Given the description of an element on the screen output the (x, y) to click on. 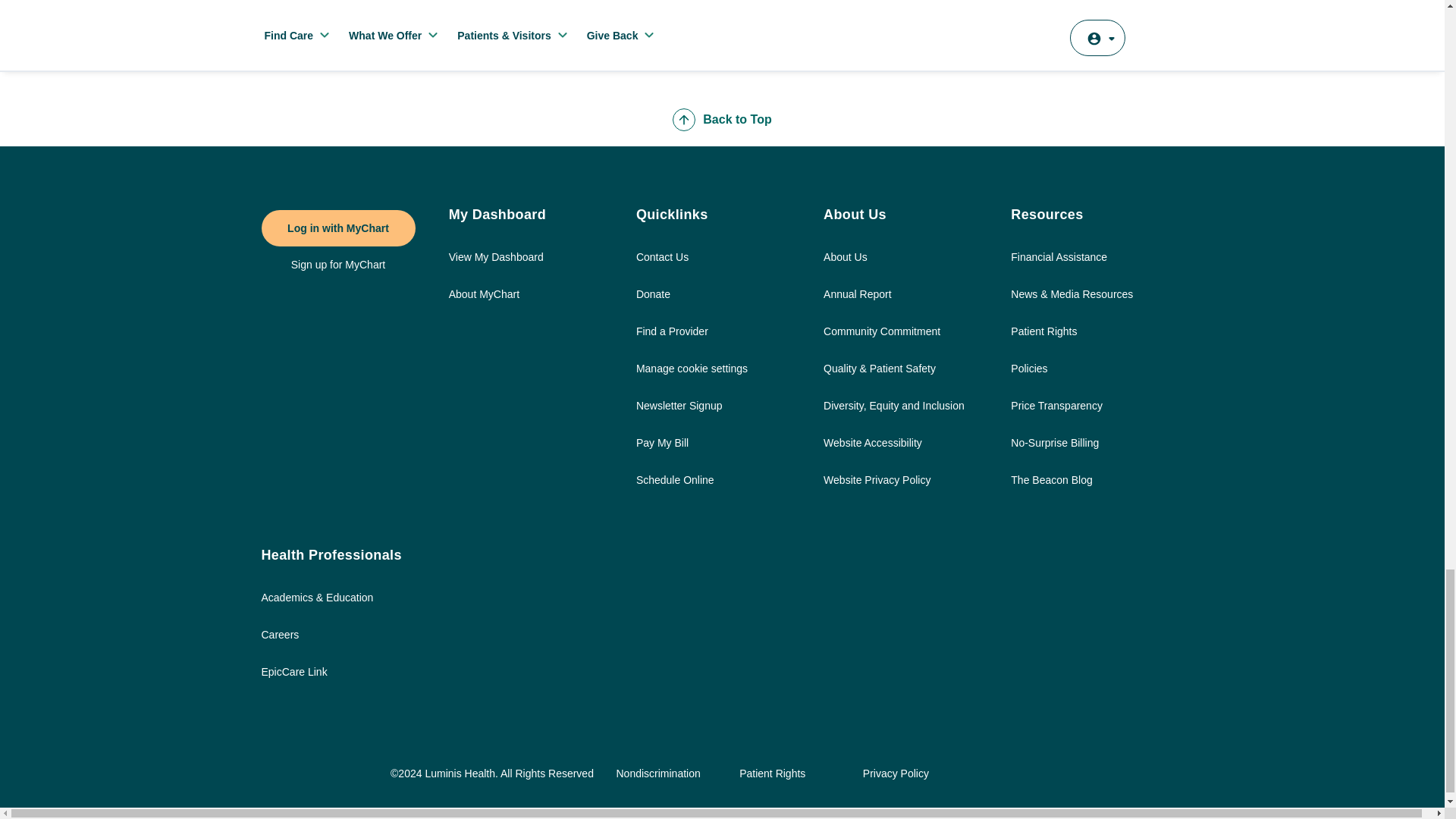
Schedule Online Link (675, 488)
About MyChart Link (483, 302)
Facts and Figures about Luminis Health (857, 302)
My Dashboard Link (495, 265)
Find Provider Link (671, 339)
Pay My Bill Link (662, 451)
Contact Us Link (662, 265)
Learn more about Luminis Health (845, 265)
Login with MyChart Link (337, 227)
Sign Up for MyChart Link (338, 264)
Donate Link (654, 302)
